Given the description of an element on the screen output the (x, y) to click on. 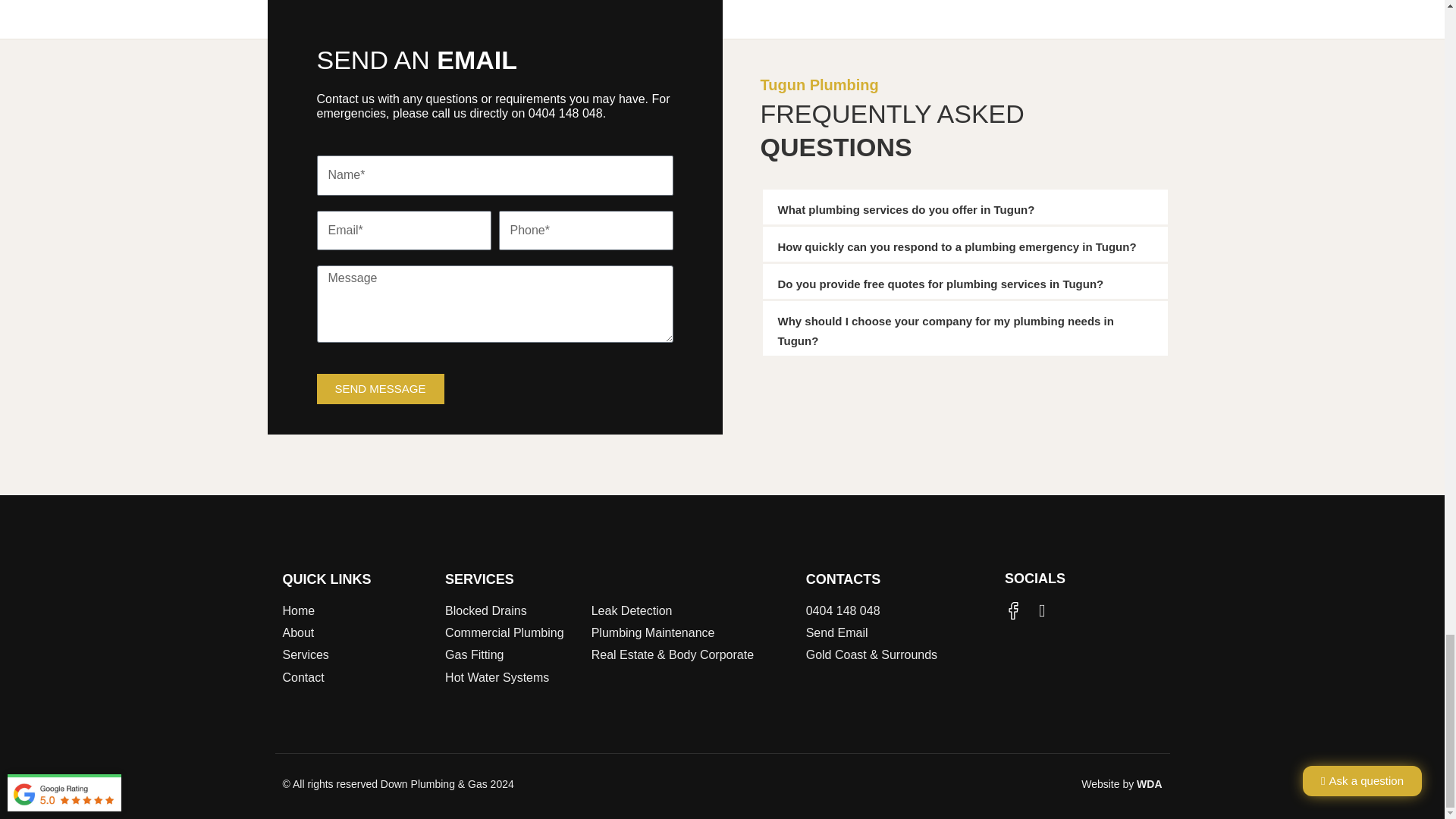
About (355, 632)
Do you provide free quotes for plumbing services in Tugun? (940, 283)
Contact (355, 677)
What plumbing services do you offer in Tugun? (906, 209)
Home (355, 610)
Services (355, 654)
SEND MESSAGE (380, 388)
